Given the description of an element on the screen output the (x, y) to click on. 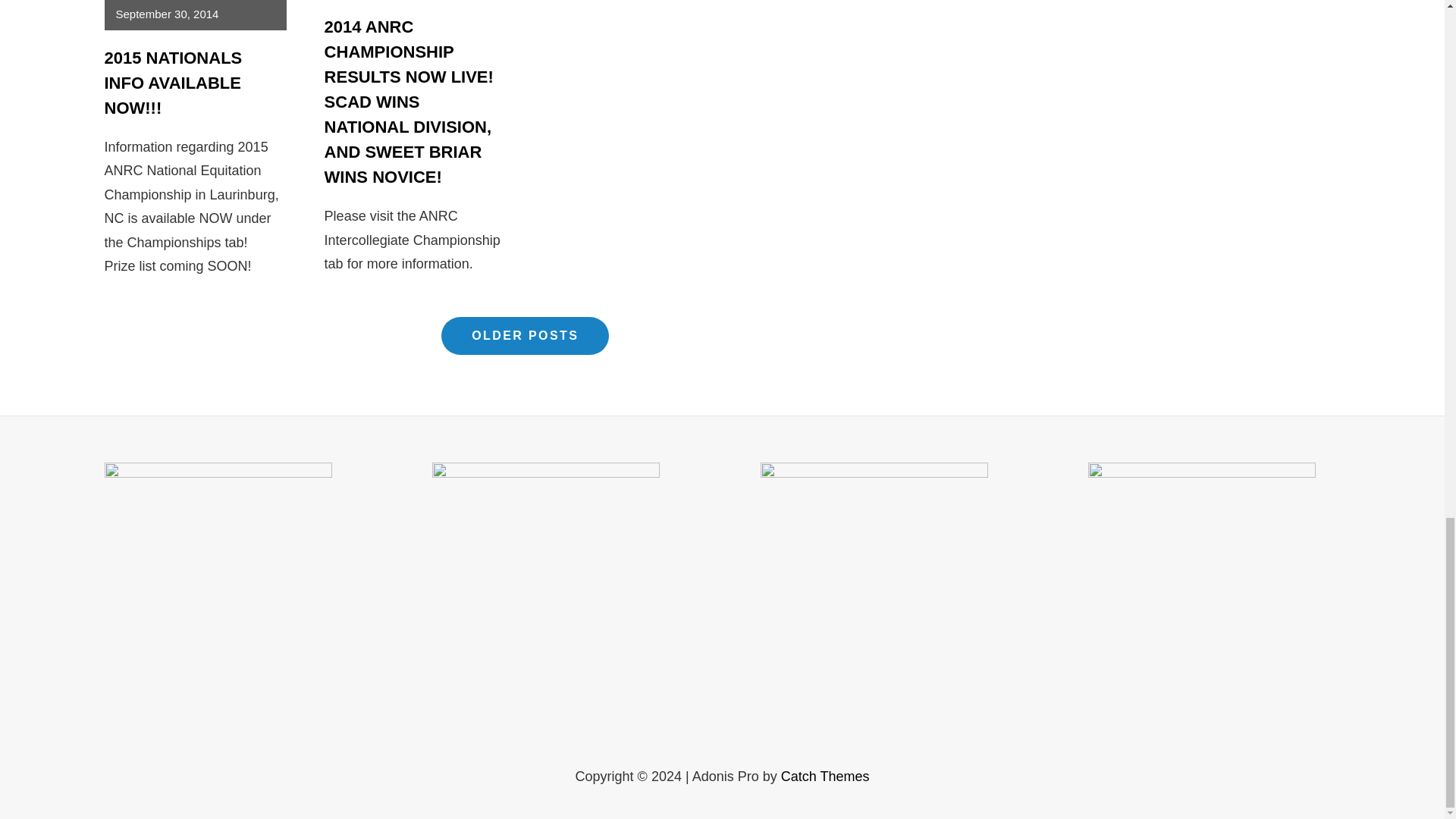
Go to the first page (1129, 87)
View on facebook (1275, 53)
Go to the last page (1206, 87)
